Given the description of an element on the screen output the (x, y) to click on. 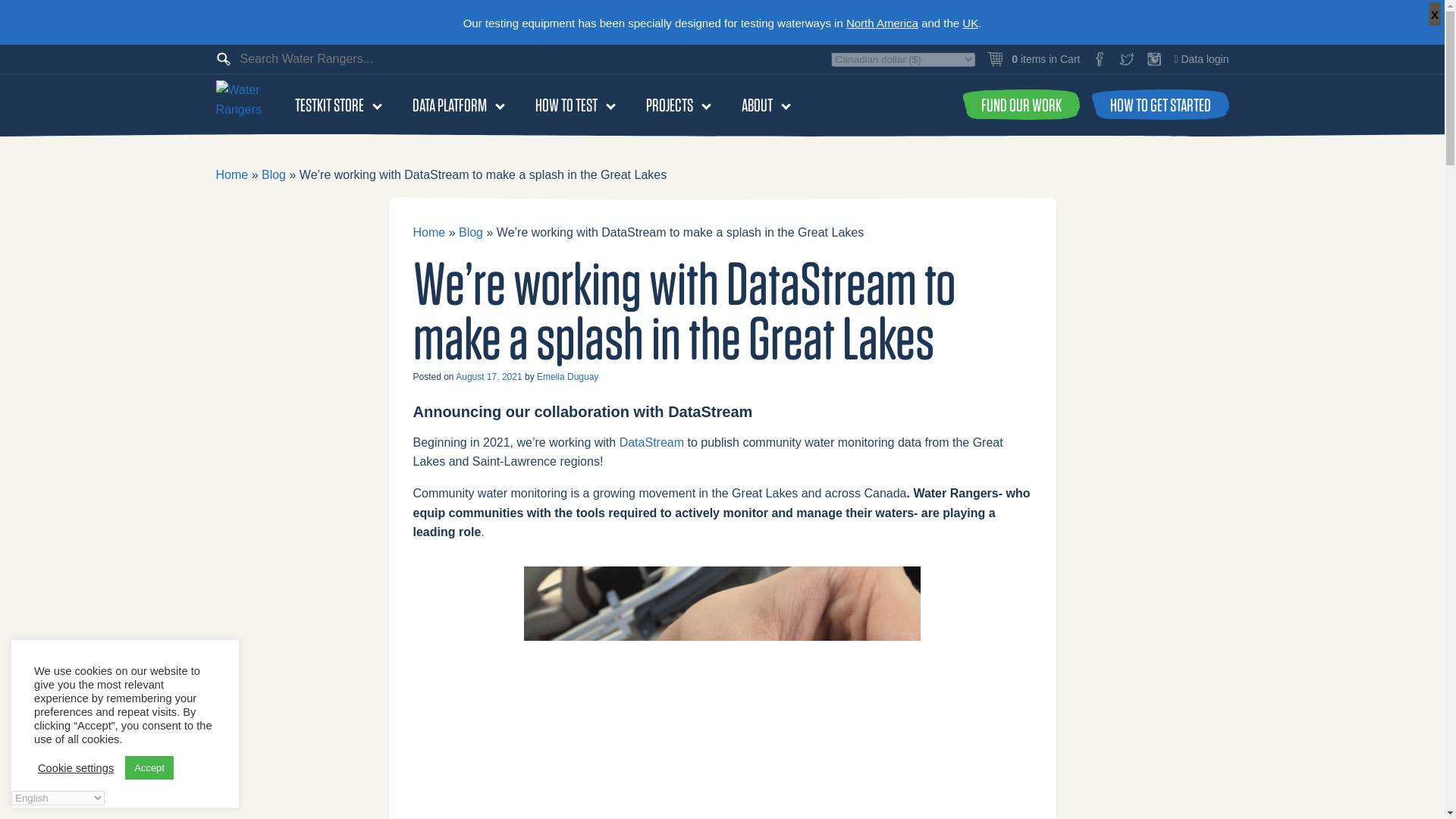
Facebook (1099, 59)
My Basket (1033, 59)
TESTKIT STORE (328, 104)
DATA PLATFORM (449, 104)
ABOUT (756, 104)
UK (970, 22)
Instagram (1154, 59)
Twitter (1126, 59)
search (18, 6)
0 items (1033, 59)
